Given the description of an element on the screen output the (x, y) to click on. 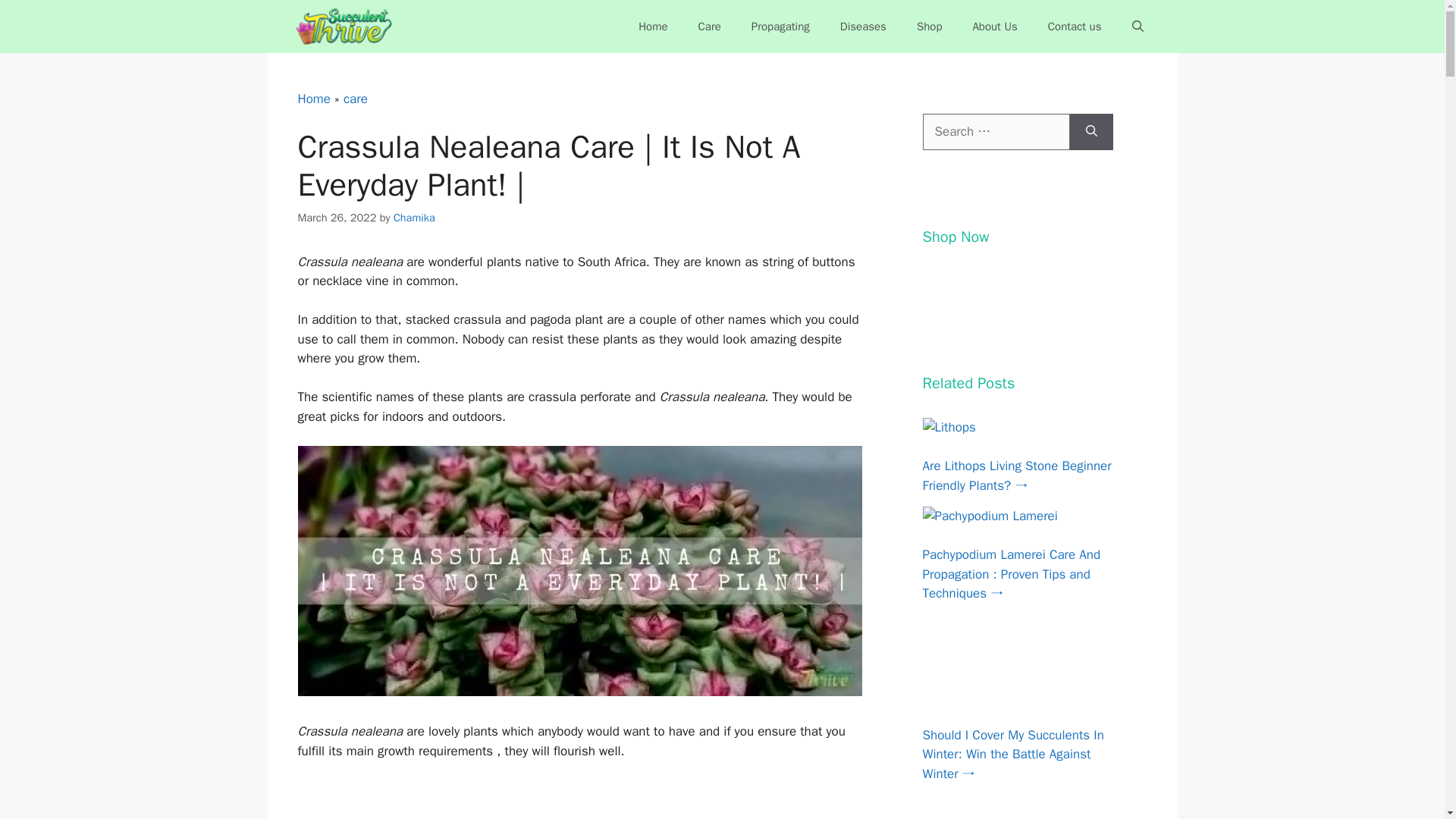
View all posts by Chamika (414, 217)
Home (652, 26)
Shop (929, 26)
Succulent Thrive (347, 26)
Search for: (994, 131)
care (355, 98)
Care (709, 26)
Home (313, 98)
Chamika (414, 217)
Diseases (863, 26)
